Given the description of an element on the screen output the (x, y) to click on. 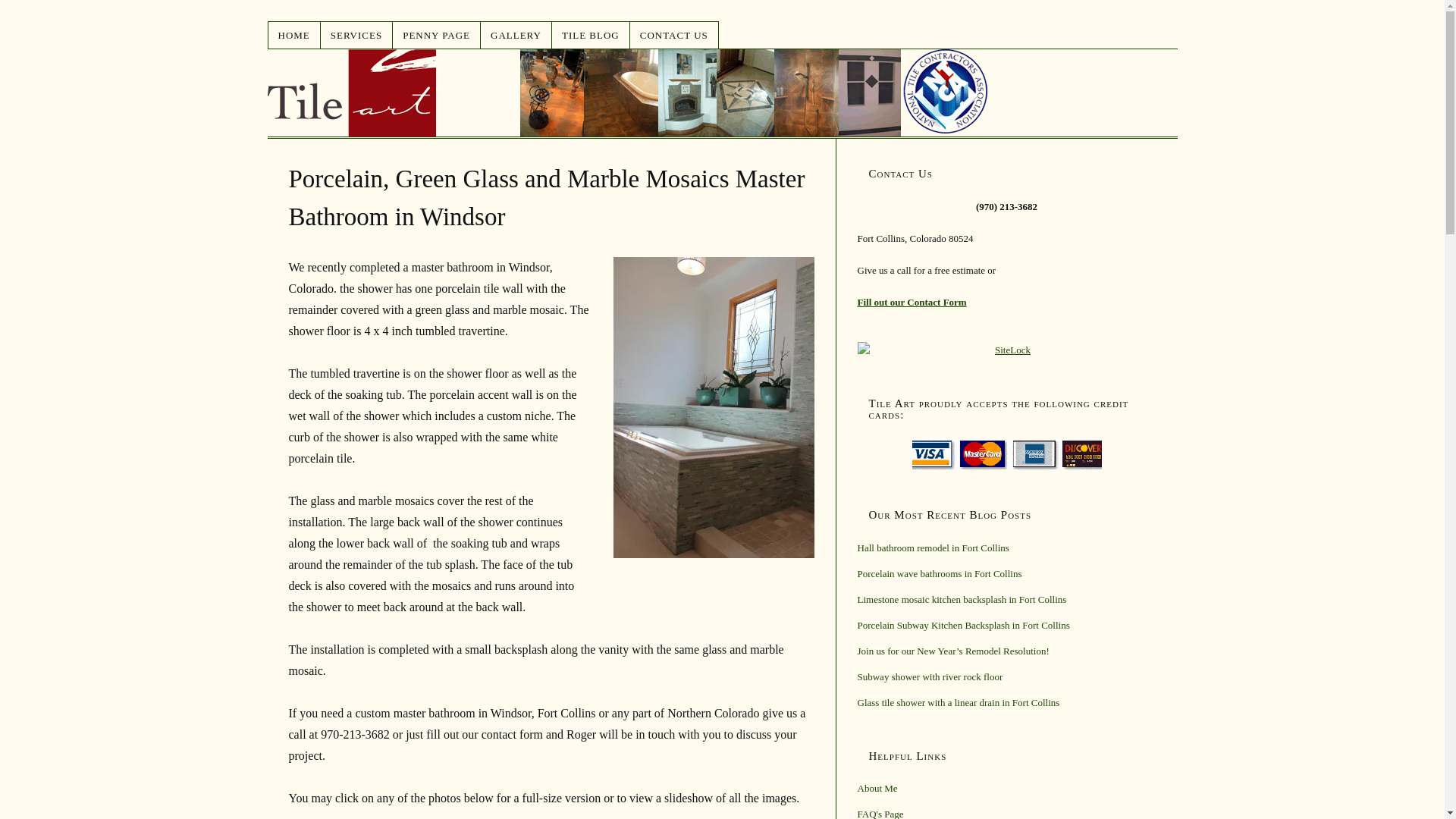
GALLERY (515, 35)
TILE BLOG (590, 35)
HOME (293, 35)
CONTACT US (674, 35)
PENNY PAGE (436, 35)
SERVICES (356, 35)
